Given the description of an element on the screen output the (x, y) to click on. 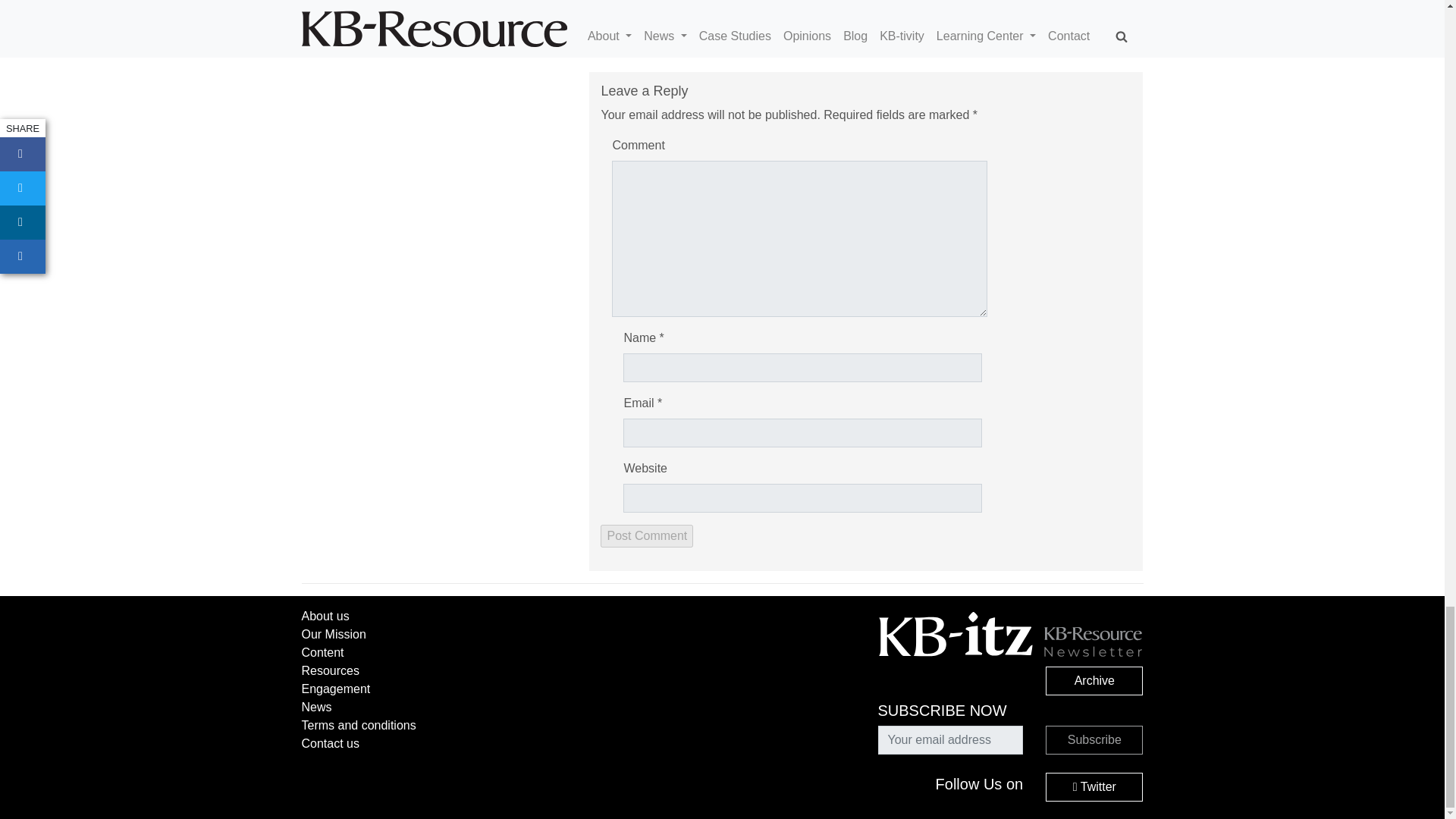
Subscribe (1093, 739)
finance (672, 2)
Post Comment (646, 535)
business (622, 2)
